Given the description of an element on the screen output the (x, y) to click on. 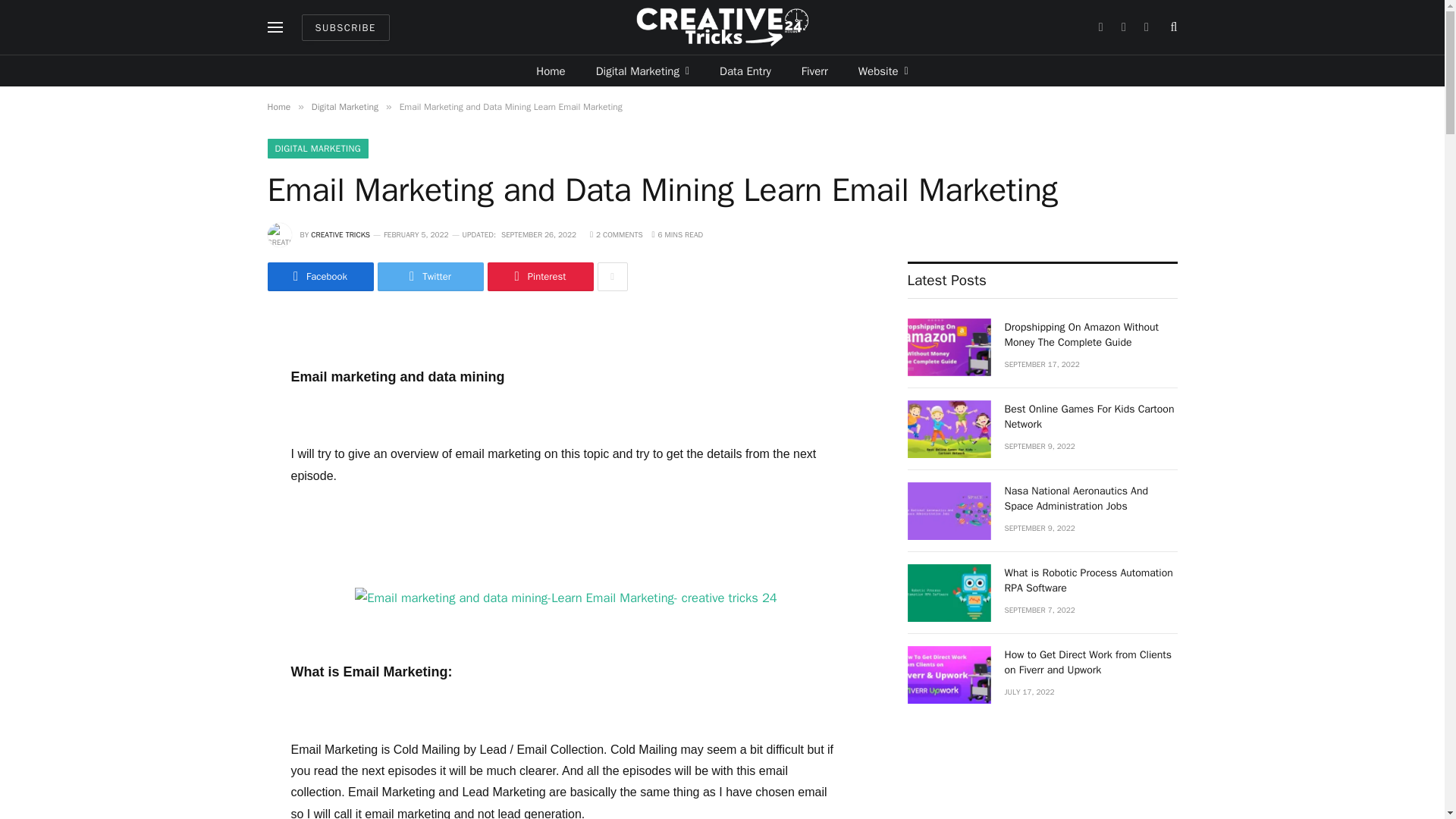
Share on Pinterest (539, 276)
Creativetricks (722, 27)
Home (550, 70)
SUBSCRIBE (345, 26)
Fiverr (814, 70)
Posts by Creative Tricks (340, 234)
Digital Marketing (642, 70)
CREATIVE TRICKS (340, 234)
DIGITAL MARKETING (317, 148)
Website (883, 70)
